Given the description of an element on the screen output the (x, y) to click on. 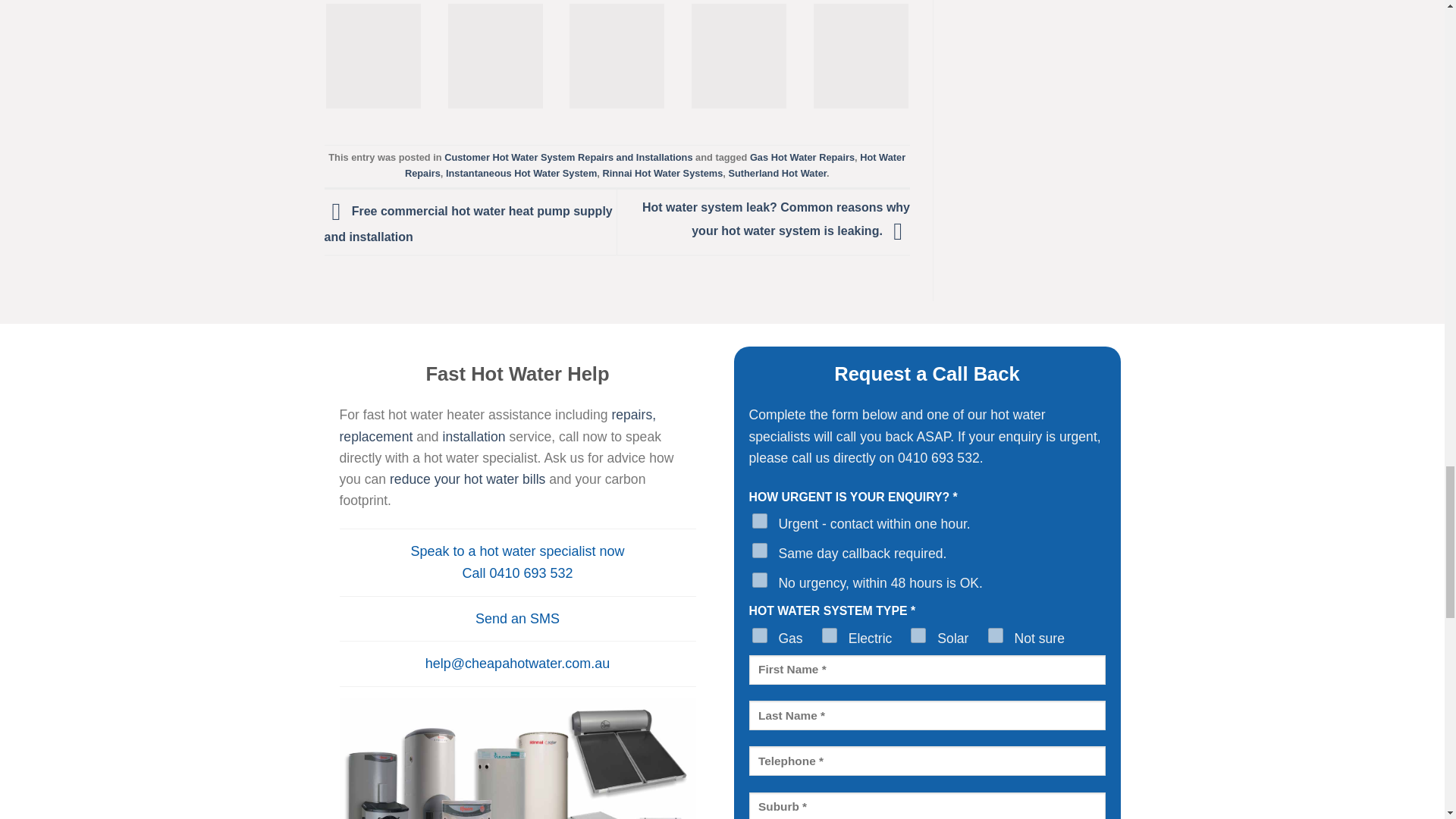
Same day callback required. (759, 549)
Not sure (995, 635)
Urgent - contact within one hour. (759, 520)
No urgency, within 48 hours is OK. (759, 580)
Electric (829, 635)
Gas (759, 635)
Solar (918, 635)
